Given the description of an element on the screen output the (x, y) to click on. 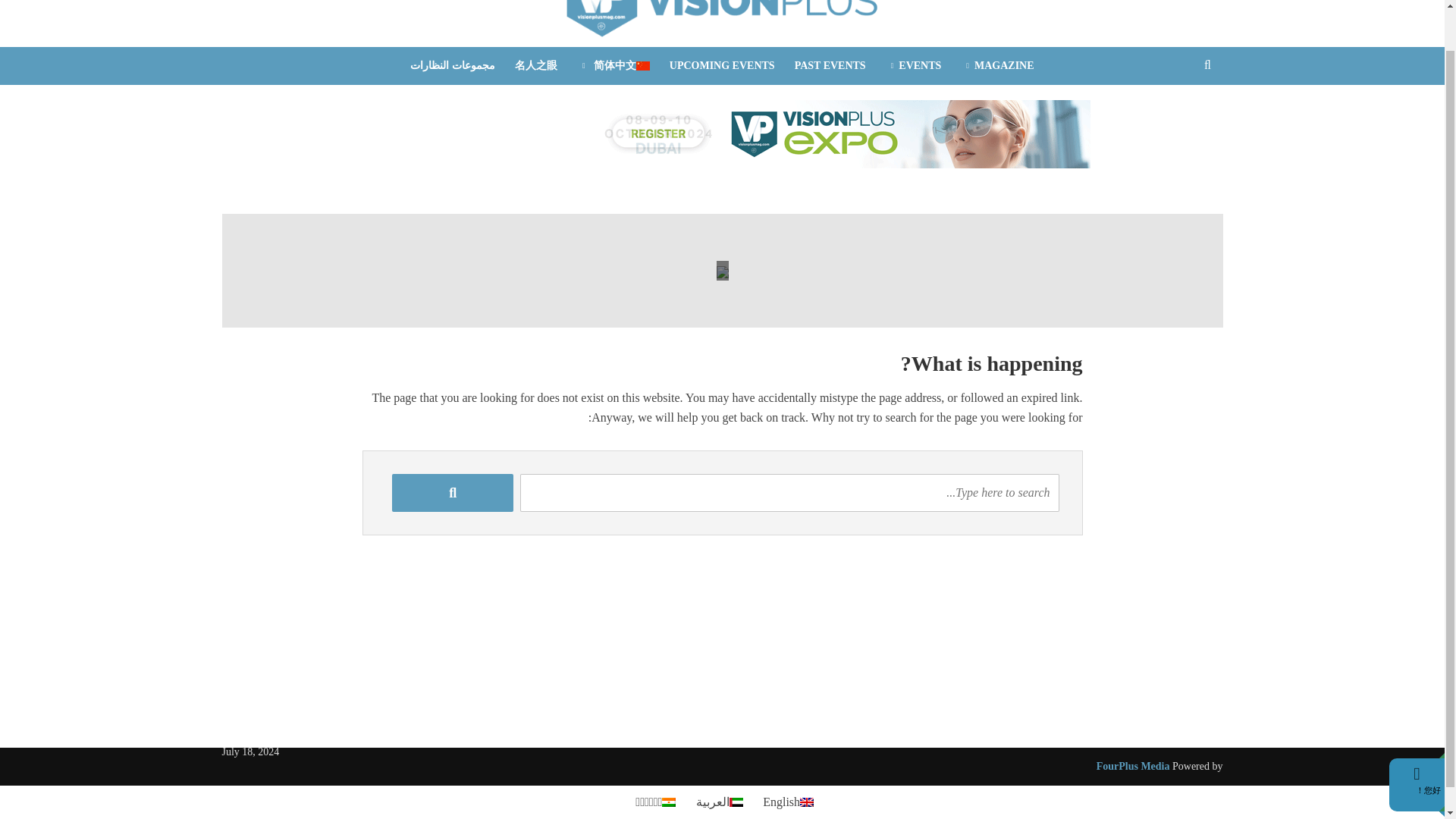
UPCOMING EVENTS (721, 65)
MAGAZINE (996, 65)
PAST EVENTS (830, 65)
EVENTS (914, 65)
